Given the description of an element on the screen output the (x, y) to click on. 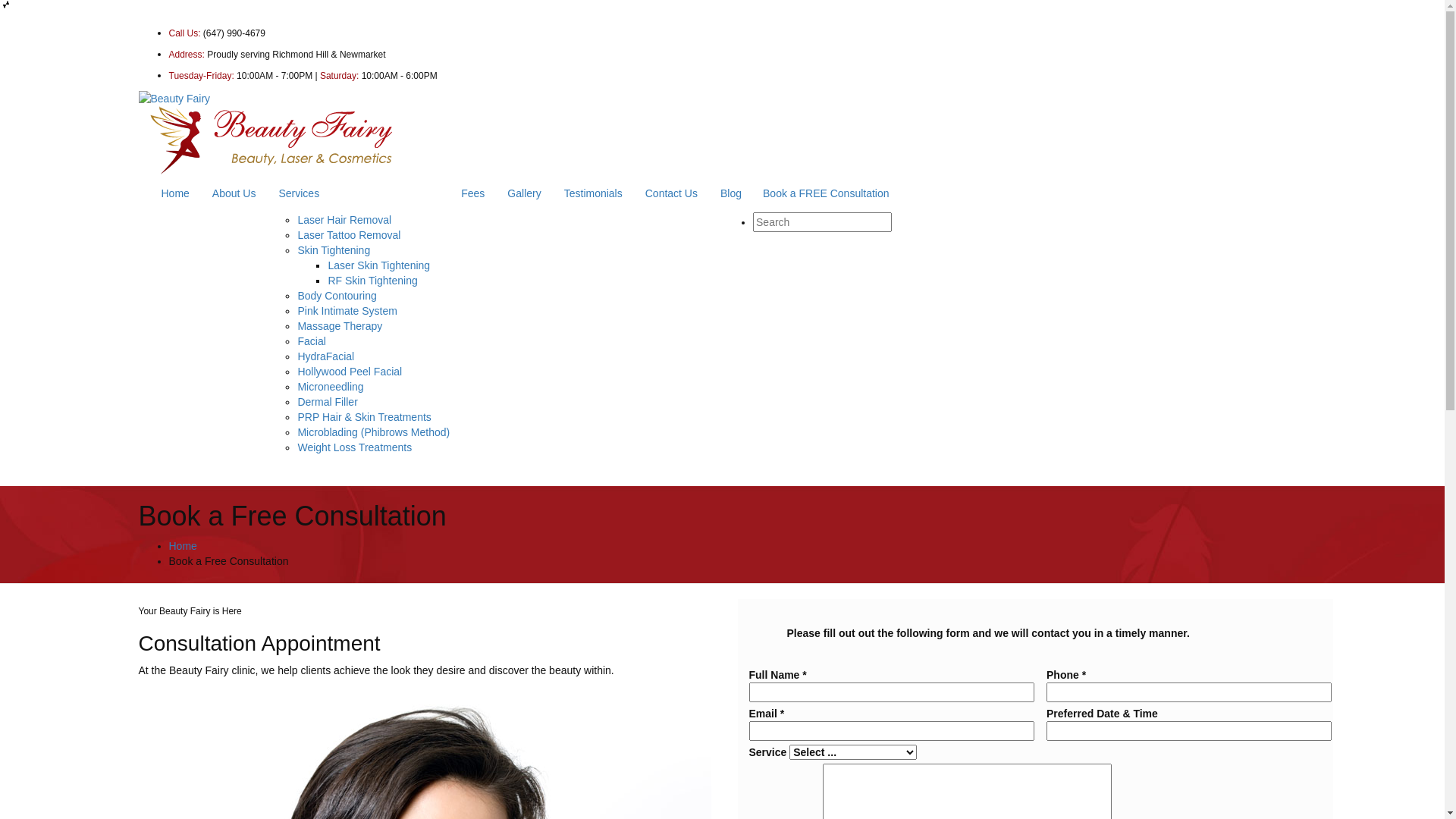
Massage Therapy Element type: text (339, 326)
Laser Tattoo Removal Element type: text (348, 235)
Fees Element type: text (472, 193)
Skin Tightening Element type: text (333, 250)
Testimonials Element type: text (592, 193)
Hollywood Peel Facial Element type: text (349, 371)
Home Element type: text (175, 193)
HydraFacial Element type: text (325, 356)
Microblading (Phibrows Method) Element type: text (373, 432)
Pink Intimate System Element type: text (347, 310)
Services Element type: text (357, 193)
Facial Element type: text (311, 341)
About Us Element type: text (233, 193)
Weight Loss Treatments Element type: text (354, 447)
Contact Us Element type: text (671, 193)
Book a FREE Consultation Element type: text (826, 193)
Home Element type: text (182, 545)
Laser Hair Removal Element type: text (344, 219)
Laser Skin Tightening Element type: text (378, 265)
Body Contouring Element type: text (336, 295)
Microneedling Element type: text (330, 386)
Blog Element type: text (731, 193)
RF Skin Tightening Element type: text (372, 280)
Dermal Filler Element type: text (327, 401)
PRP Hair & Skin Treatments Element type: text (363, 417)
Gallery Element type: text (523, 193)
